Given the description of an element on the screen output the (x, y) to click on. 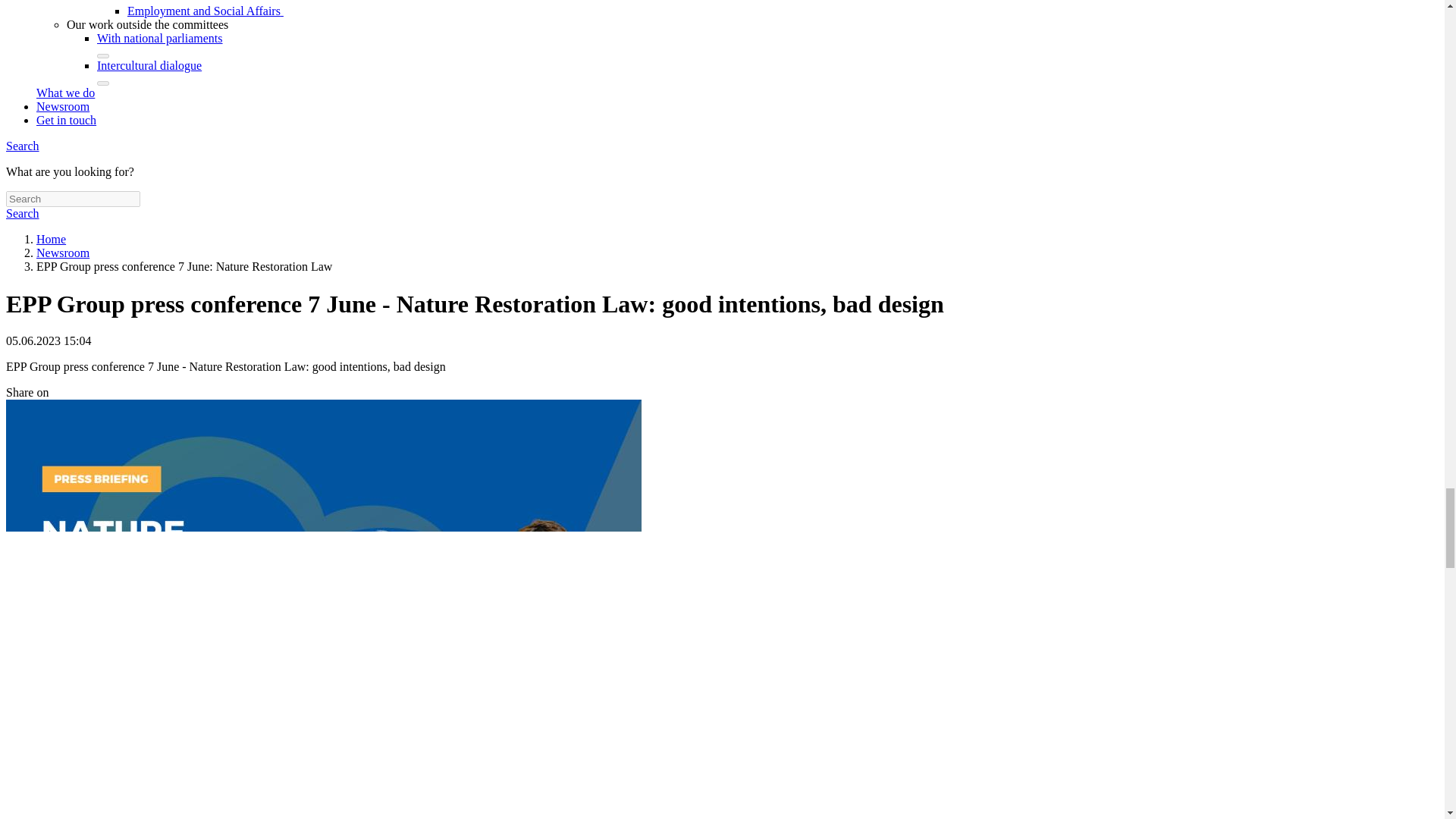
Return to newsroom (62, 252)
Get in touch (66, 119)
Newsroom (62, 106)
Return to home (50, 238)
